Given the description of an element on the screen output the (x, y) to click on. 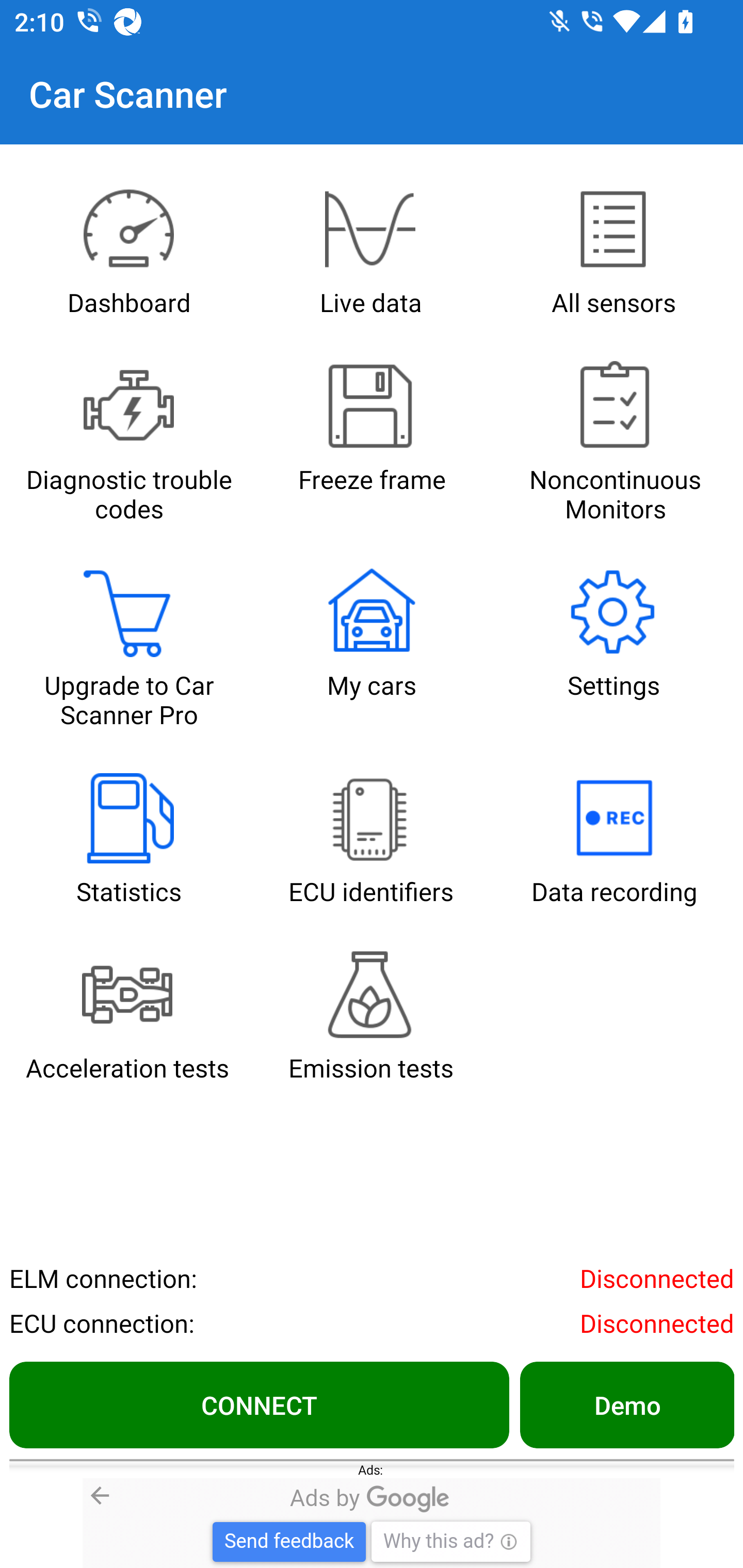
CONNECT (258, 1404)
Demo (627, 1404)
